Given the description of an element on the screen output the (x, y) to click on. 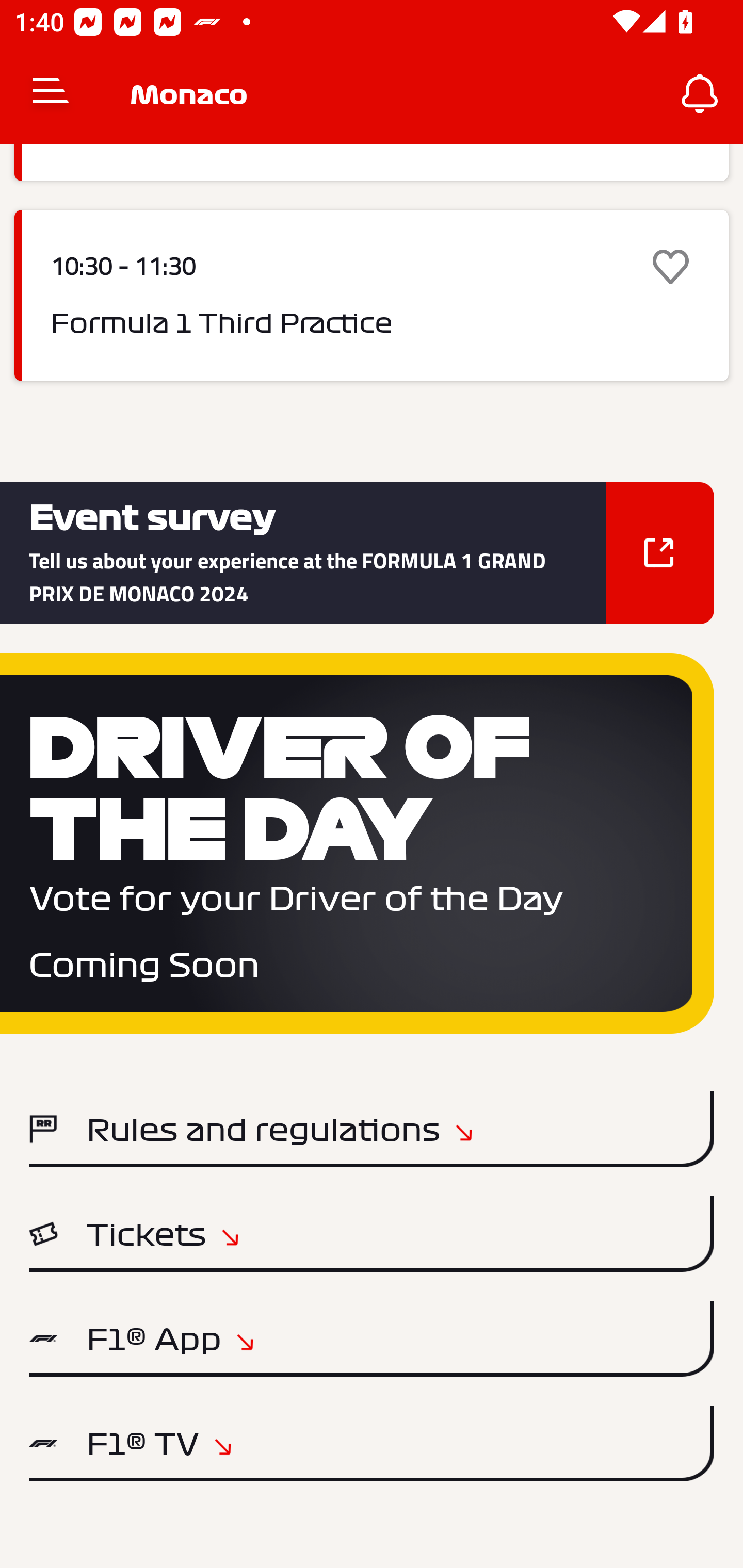
Navigate up (50, 93)
Notifications (699, 93)
10:30 - 11:30 Formula 1 Third Practice (371, 295)
Rules and regulations (371, 1128)
Tickets (371, 1233)
F1® App (371, 1338)
F1® TV (371, 1442)
